Given the description of an element on the screen output the (x, y) to click on. 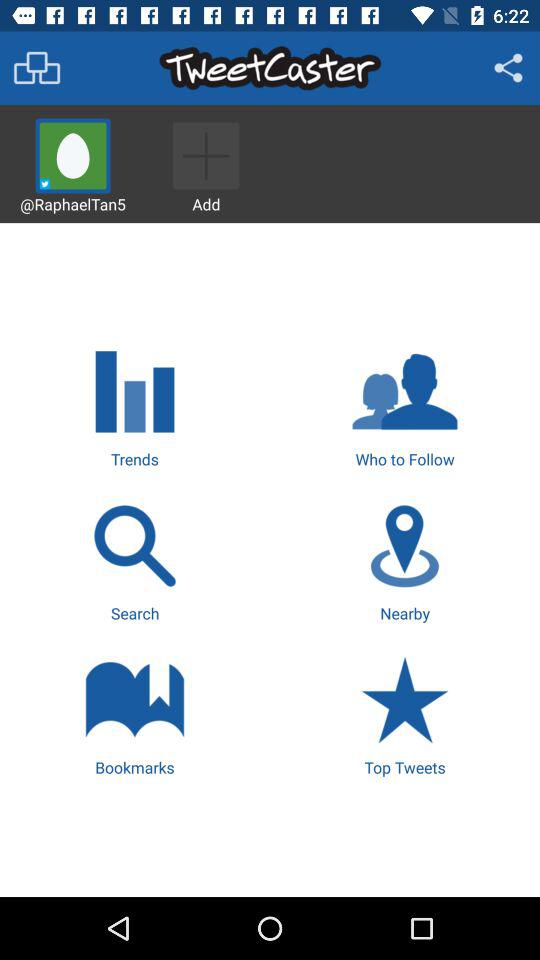
click the item at the bottom right corner (404, 714)
